Given the description of an element on the screen output the (x, y) to click on. 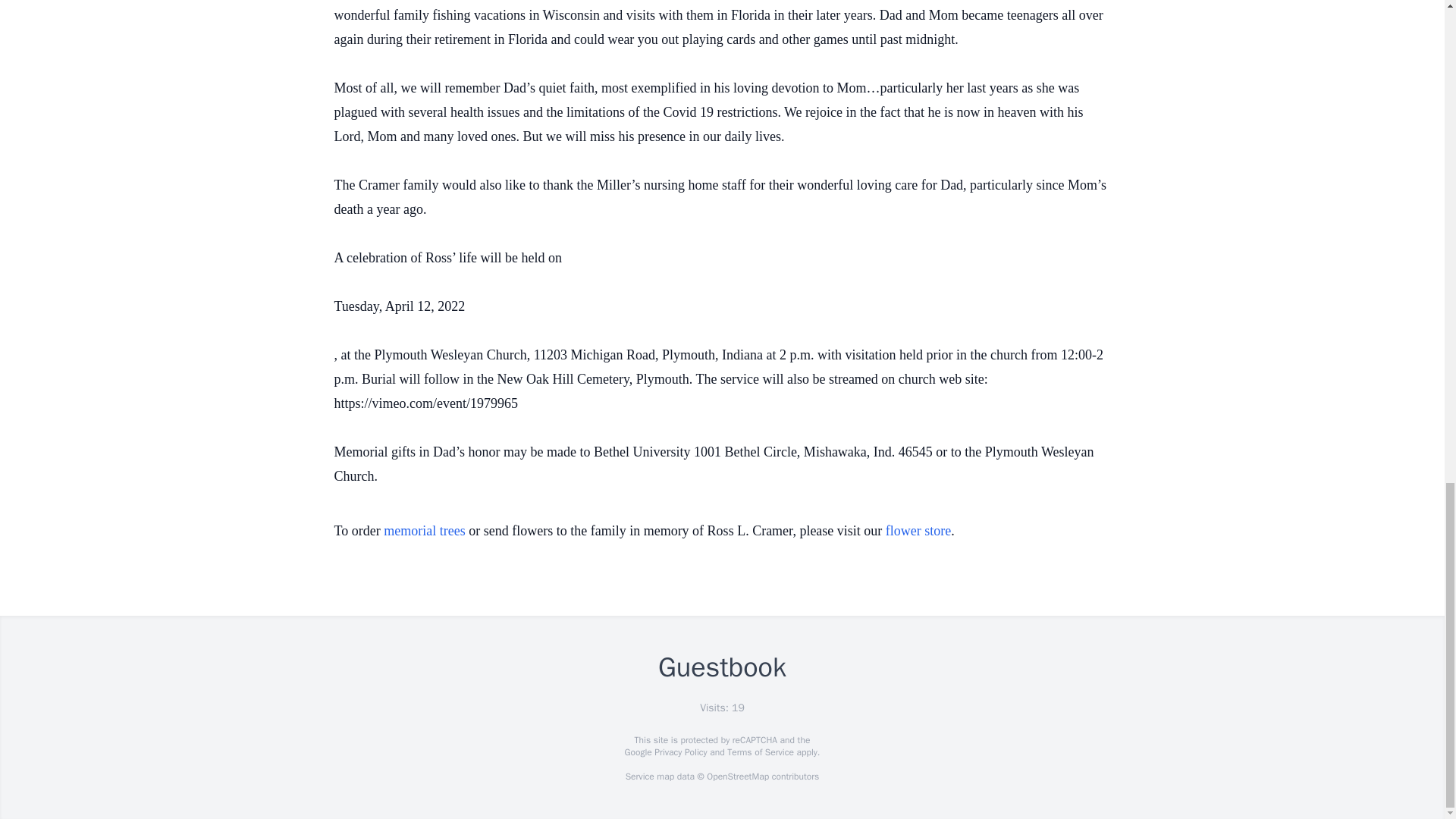
flower store (917, 530)
memorial trees (424, 530)
OpenStreetMap (737, 776)
Privacy Policy (679, 752)
Terms of Service (759, 752)
